Given the description of an element on the screen output the (x, y) to click on. 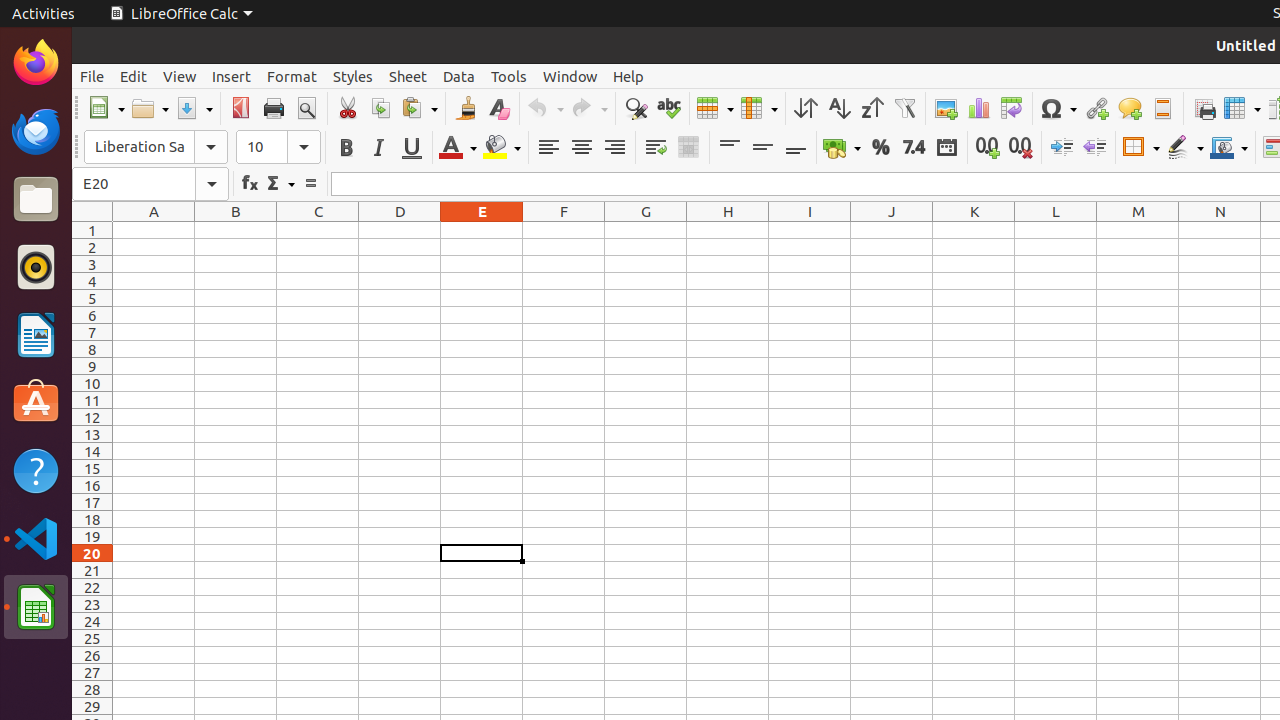
Align Top Element type: push-button (729, 147)
Hyperlink Element type: toggle-button (1096, 108)
Symbol Element type: push-button (1058, 108)
Align Center Element type: push-button (581, 147)
Print Area Element type: push-button (1203, 108)
